Given the description of an element on the screen output the (x, y) to click on. 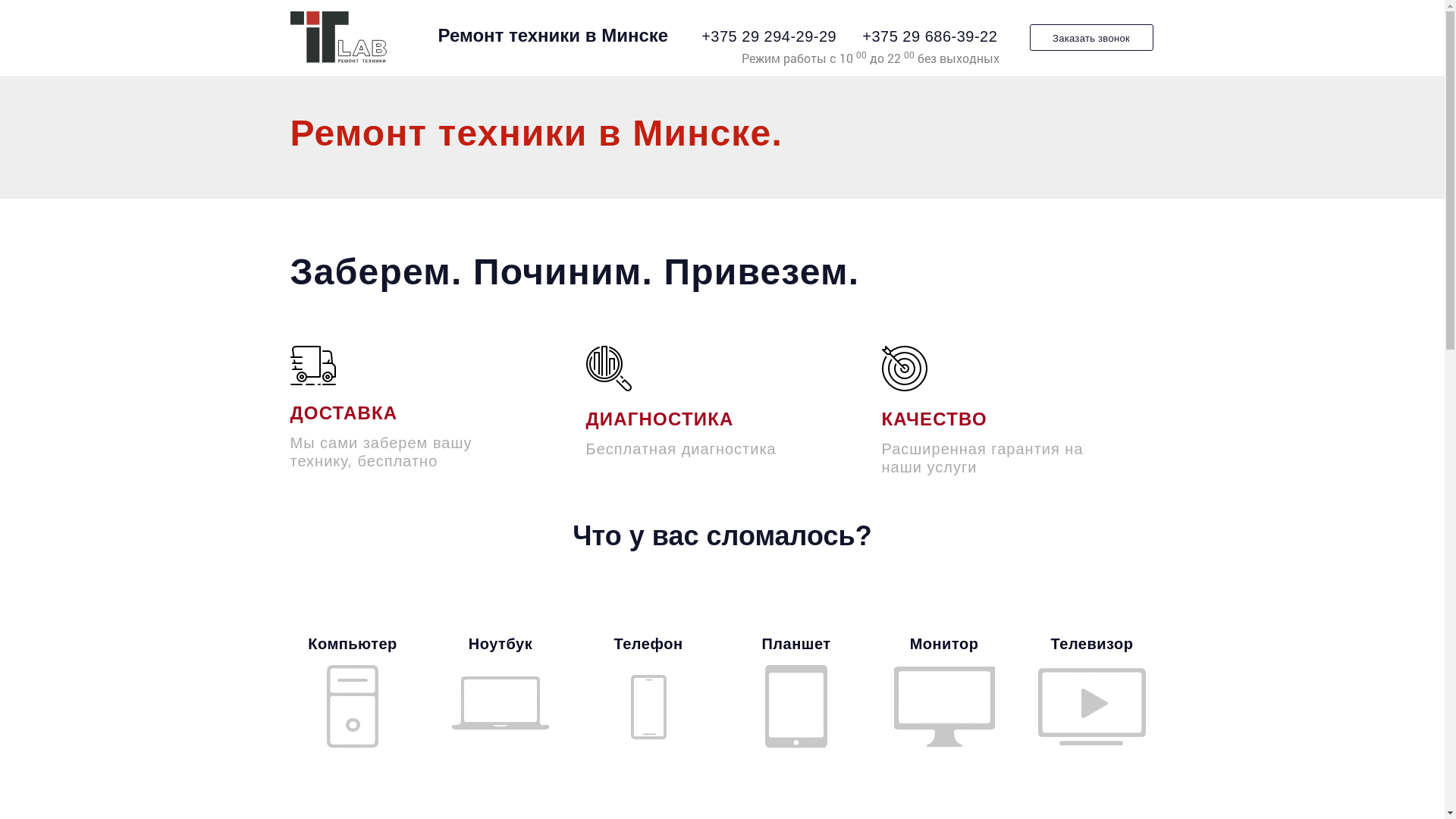
+375 29 686-39-22 Element type: text (929, 35)
+375 29 294-29-29 Element type: text (768, 35)
